Given the description of an element on the screen output the (x, y) to click on. 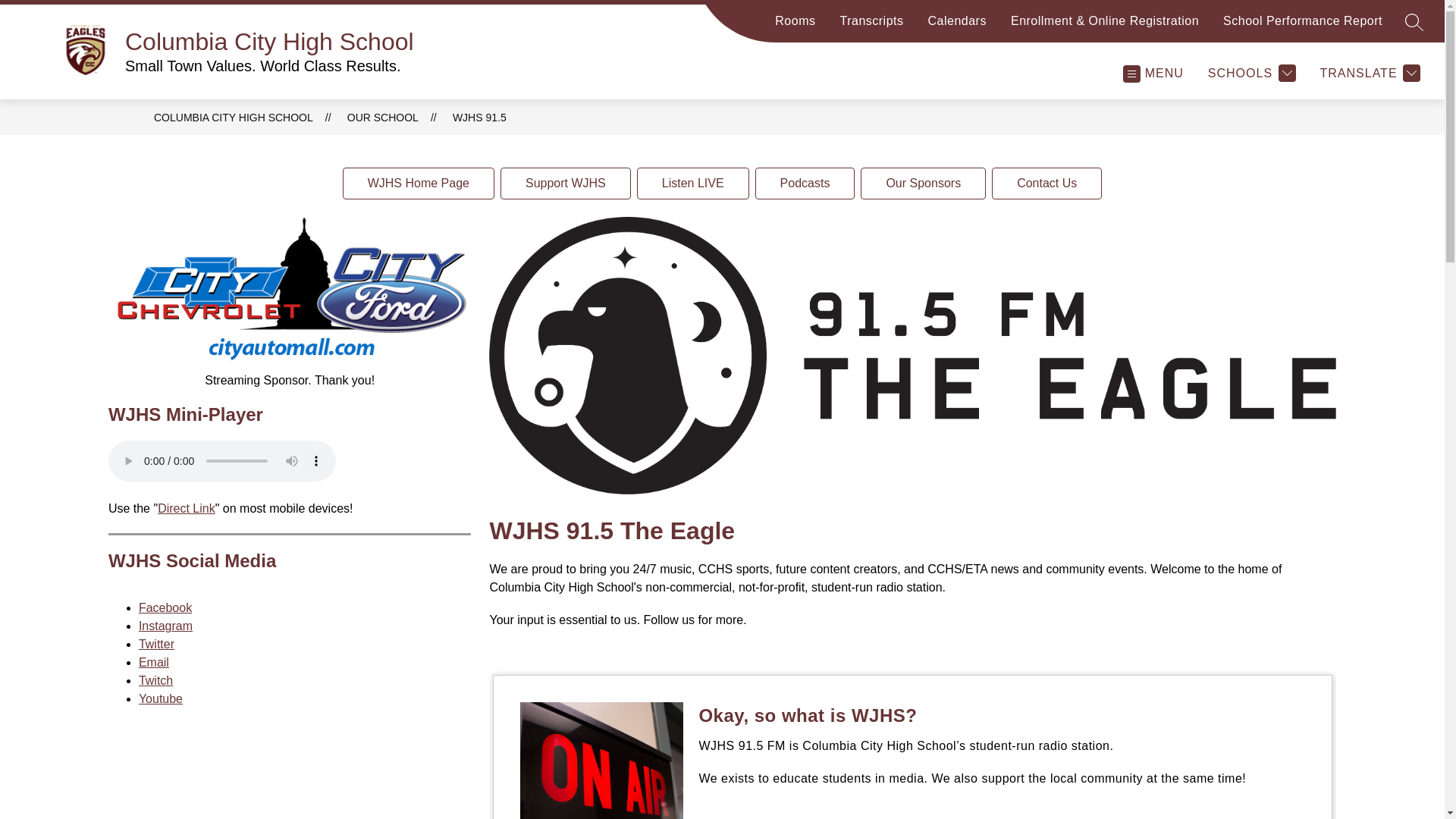
SCHOOLS (1251, 72)
WJHS Home Page (418, 183)
Youtube (160, 698)
Twitter (156, 644)
Support WJHS (565, 183)
Podcasts (805, 183)
Calendars (957, 27)
MENU (1152, 72)
Our Sponsors (922, 183)
Twitch (155, 680)
